Given the description of an element on the screen output the (x, y) to click on. 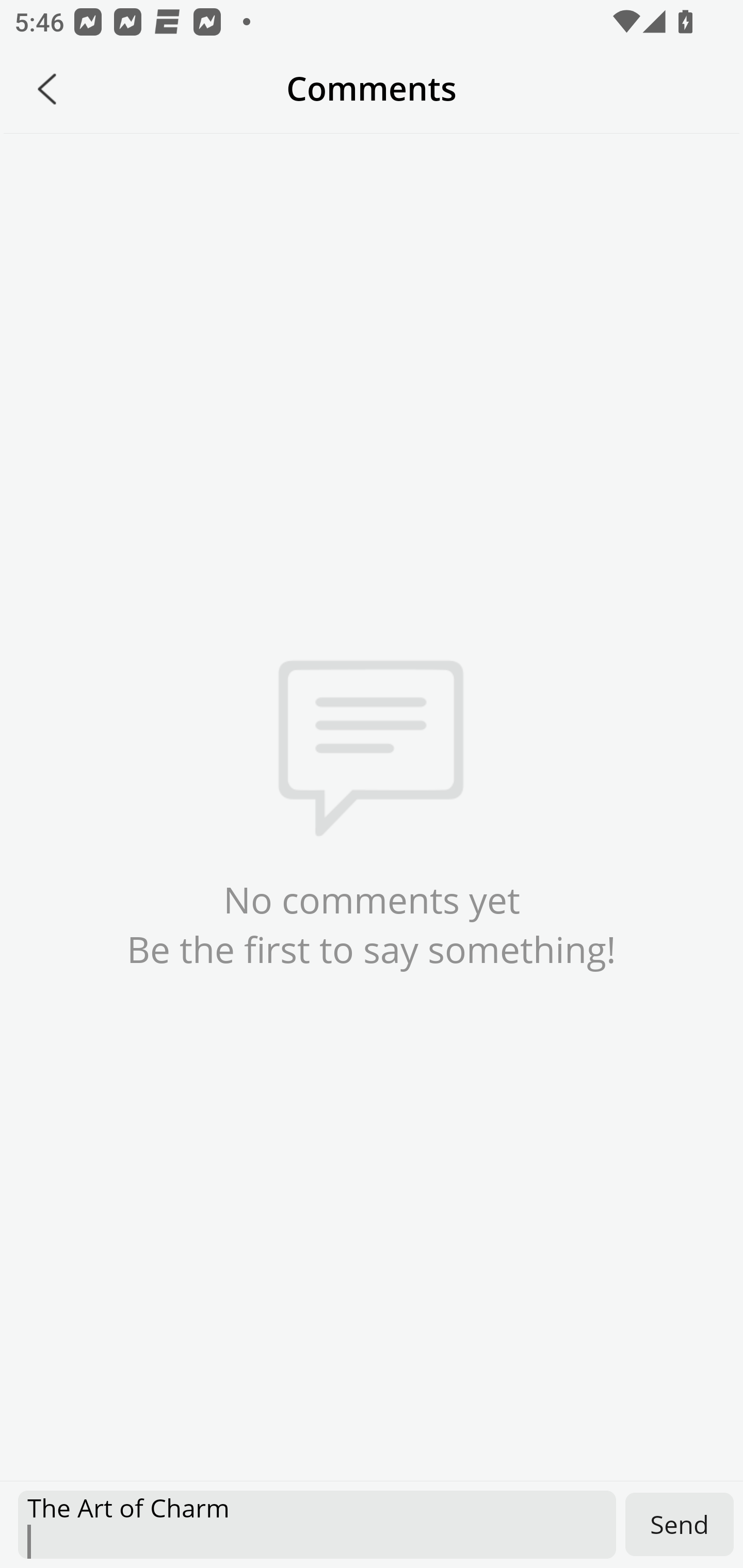
Back (46, 88)
The Art of Charm
 (316, 1524)
Send (679, 1523)
